Given the description of an element on the screen output the (x, y) to click on. 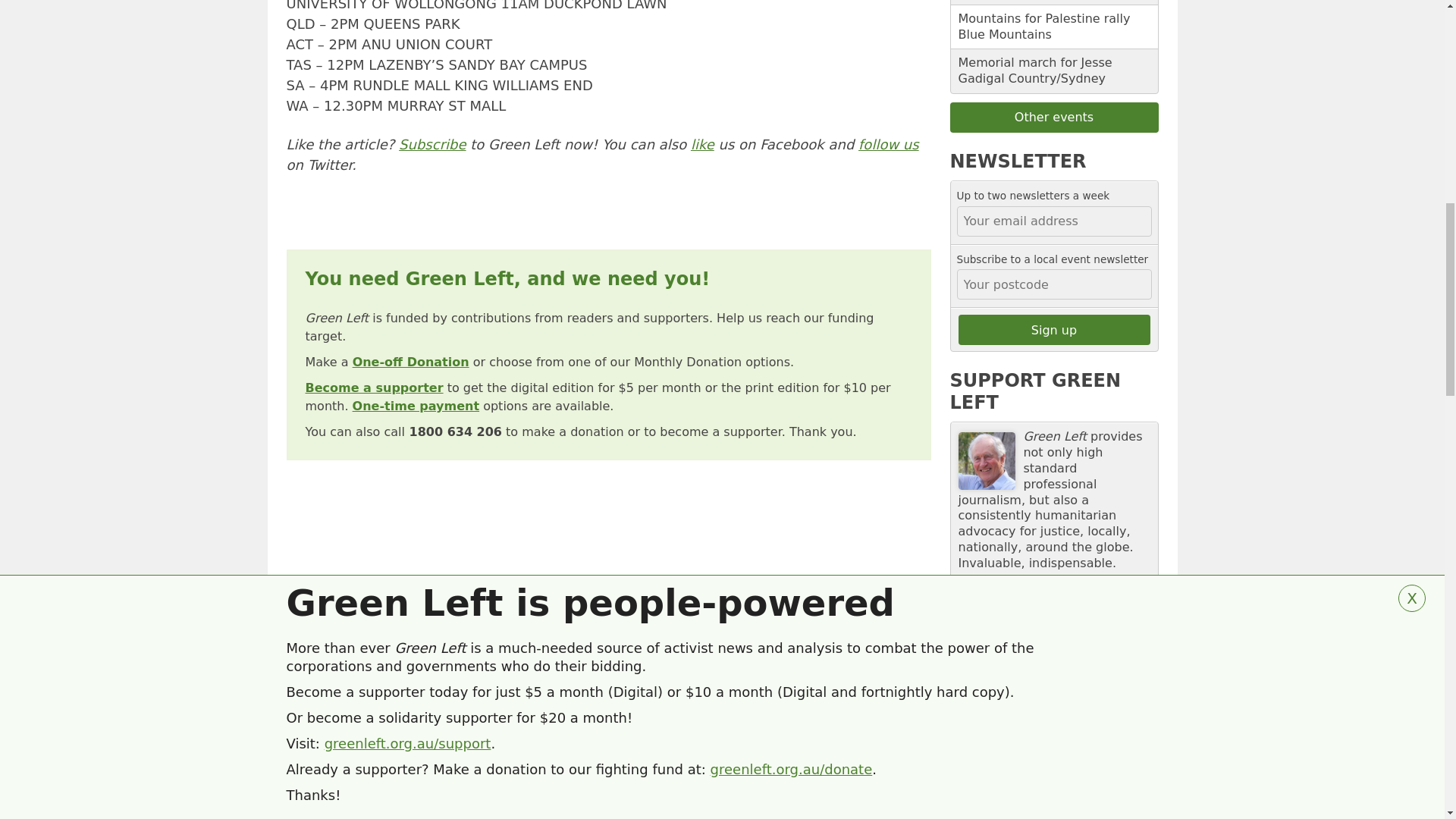
Sign up (1054, 329)
